Given the description of an element on the screen output the (x, y) to click on. 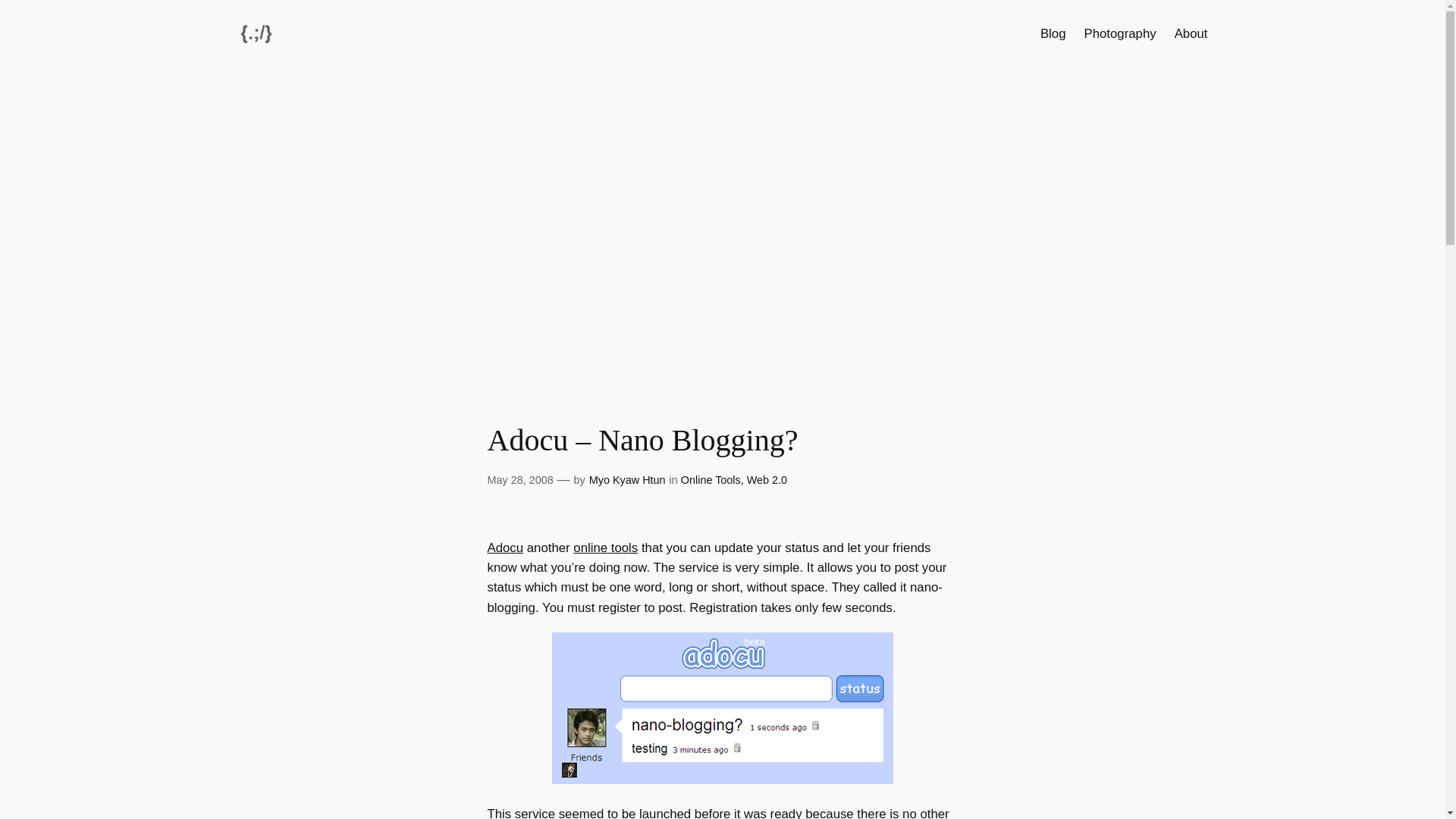
Photography (1119, 34)
adocu - blogging gone nano (722, 707)
online tools (605, 547)
Adocu - Blogging gone nano (504, 547)
Blog (1053, 34)
Adocu (504, 547)
Online Tools (711, 480)
Web 2.0 (766, 480)
view all posts posted under online tools (605, 547)
May 28, 2008 (519, 480)
About (1191, 34)
Adocu - Blogging gone nano (722, 780)
Myo Kyaw Htun (627, 480)
